Given the description of an element on the screen output the (x, y) to click on. 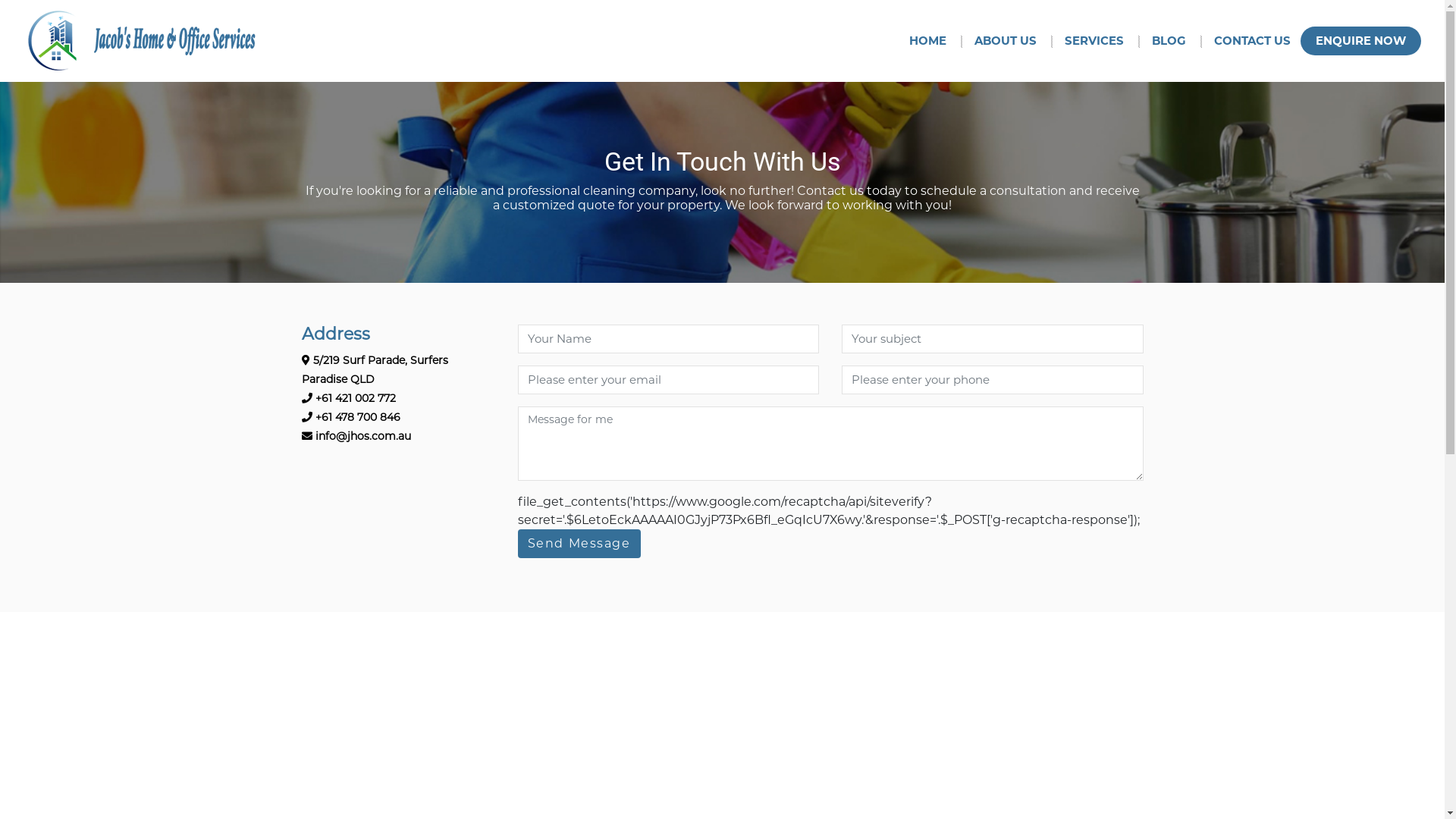
+61 478 700 846 Element type: text (350, 416)
BLOG Element type: text (1176, 41)
+61 421 002 772 Element type: text (348, 397)
CONTACT US Element type: text (1252, 41)
Send message Element type: text (578, 543)
info@jhos.com.au Element type: text (356, 435)
SERVICES Element type: text (1101, 41)
ENQUIRE NOW Element type: text (1360, 41)
ABOUT US Element type: text (1013, 41)
HOME Element type: text (935, 41)
